Given the description of an element on the screen output the (x, y) to click on. 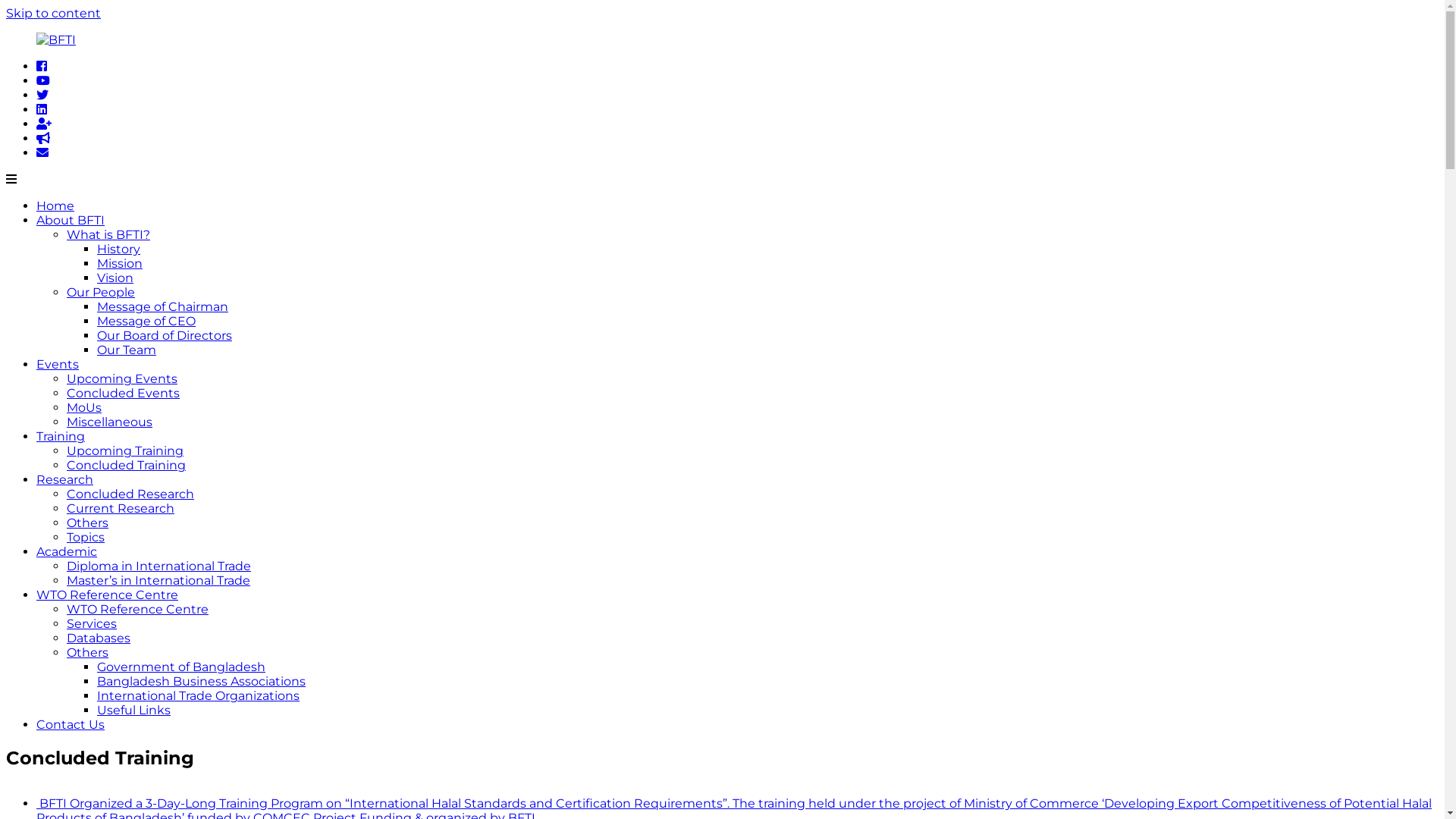
Databases Element type: text (98, 637)
Our Board of Directors Element type: text (164, 335)
Research Element type: text (64, 479)
Concluded Research Element type: text (130, 493)
Diploma in International Trade Element type: text (158, 565)
Upcoming Training Element type: text (124, 450)
WTO Reference Centre Element type: text (107, 594)
Training Element type: text (60, 436)
Concluded Training Element type: text (125, 465)
BFTI Element type: text (19, 78)
Others Element type: text (87, 522)
Academic Element type: text (66, 551)
History Element type: text (118, 248)
Events Element type: text (57, 364)
Services Element type: text (91, 623)
Vision Element type: text (115, 277)
Message of CEO Element type: text (146, 320)
What is BFTI? Element type: text (108, 234)
Our Team Element type: text (126, 349)
WTO Reference Centre Element type: text (137, 609)
Contact Us Element type: text (70, 724)
About BFTI Element type: text (70, 220)
Message of Chairman Element type: text (162, 306)
Concluded Events Element type: text (122, 392)
Mission Element type: text (119, 263)
Bangladesh Business Associations Element type: text (201, 681)
International Trade Organizations Element type: text (198, 695)
Topics Element type: text (85, 537)
Government of Bangladesh Element type: text (181, 666)
Useful Links Element type: text (133, 709)
MoUs Element type: text (83, 407)
Our People Element type: text (100, 292)
Upcoming Events Element type: text (121, 378)
Current Research Element type: text (120, 508)
Home Element type: text (55, 205)
Others Element type: text (87, 652)
Skip to content Element type: text (53, 13)
Miscellaneous Element type: text (109, 421)
